Given the description of an element on the screen output the (x, y) to click on. 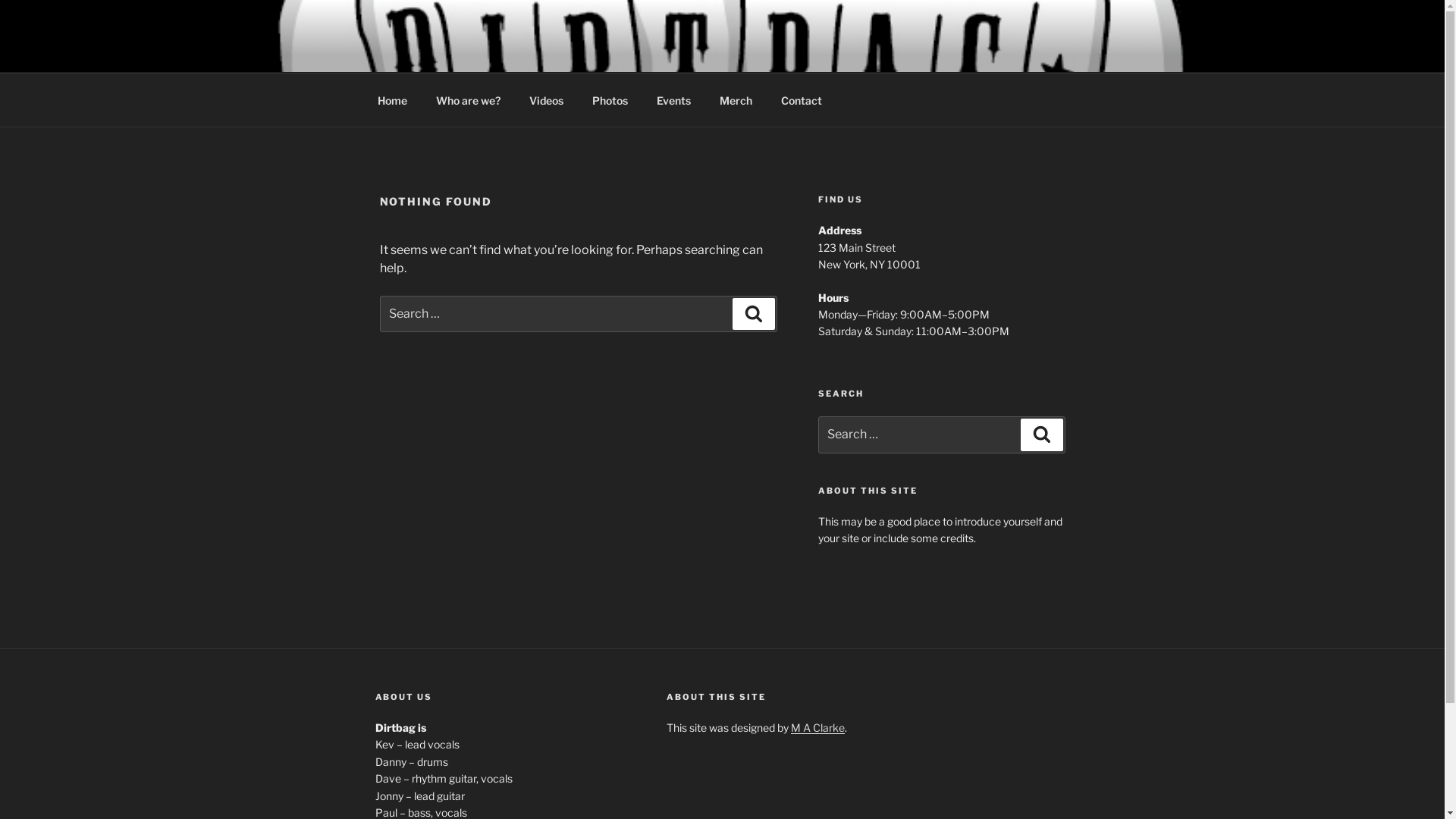
Contact Element type: text (800, 100)
Search Element type: text (753, 313)
Who are we? Element type: text (468, 100)
DIRTBAG Element type: text (450, 52)
Search Element type: text (1041, 434)
Merch Element type: text (735, 100)
M A Clarke Element type: text (817, 727)
Videos Element type: text (545, 100)
Home Element type: text (392, 100)
Photos Element type: text (610, 100)
Events Element type: text (673, 100)
